Given the description of an element on the screen output the (x, y) to click on. 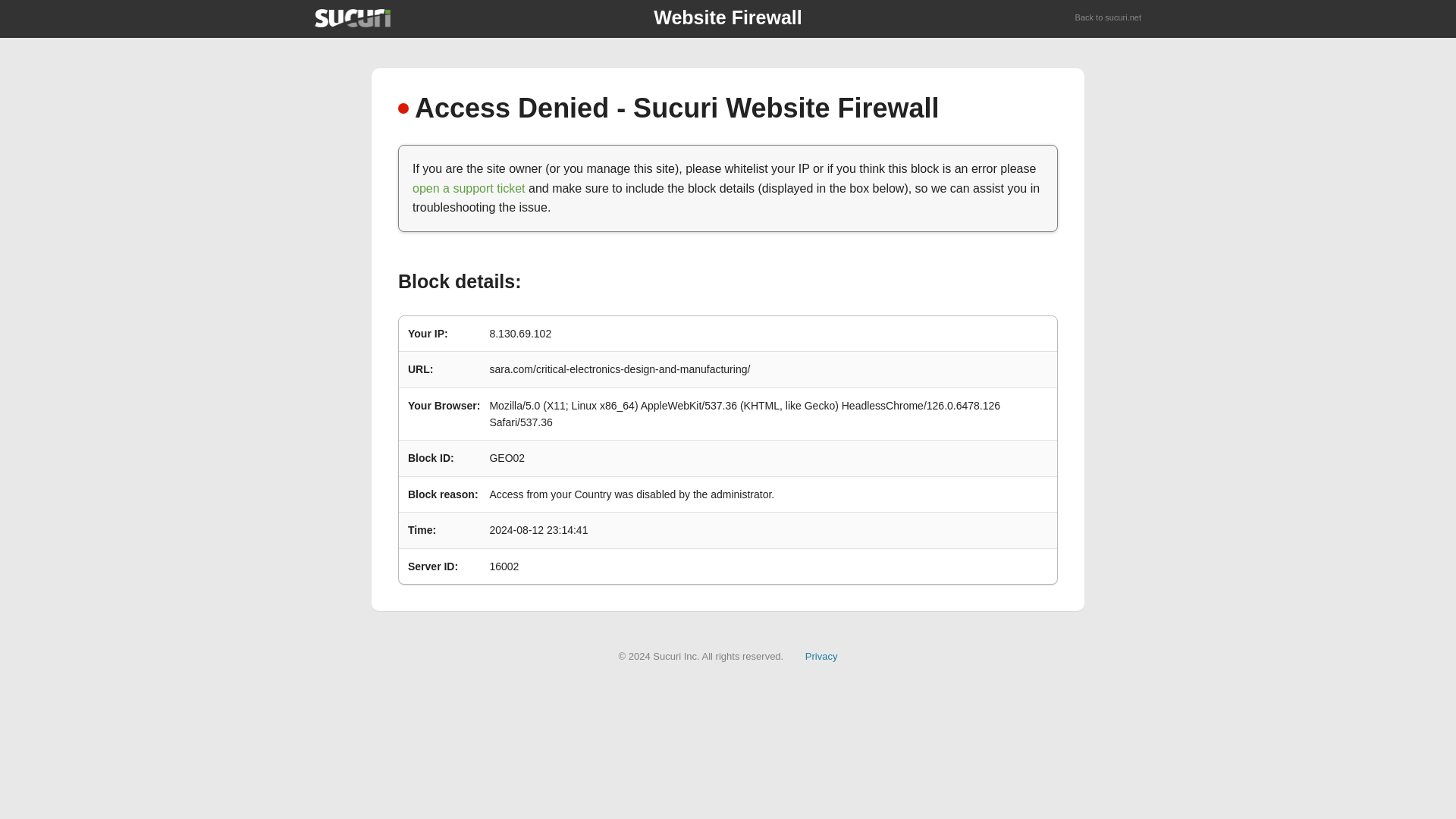
Privacy (821, 655)
open a support ticket (468, 187)
Back to sucuri.net (1108, 18)
